Given the description of an element on the screen output the (x, y) to click on. 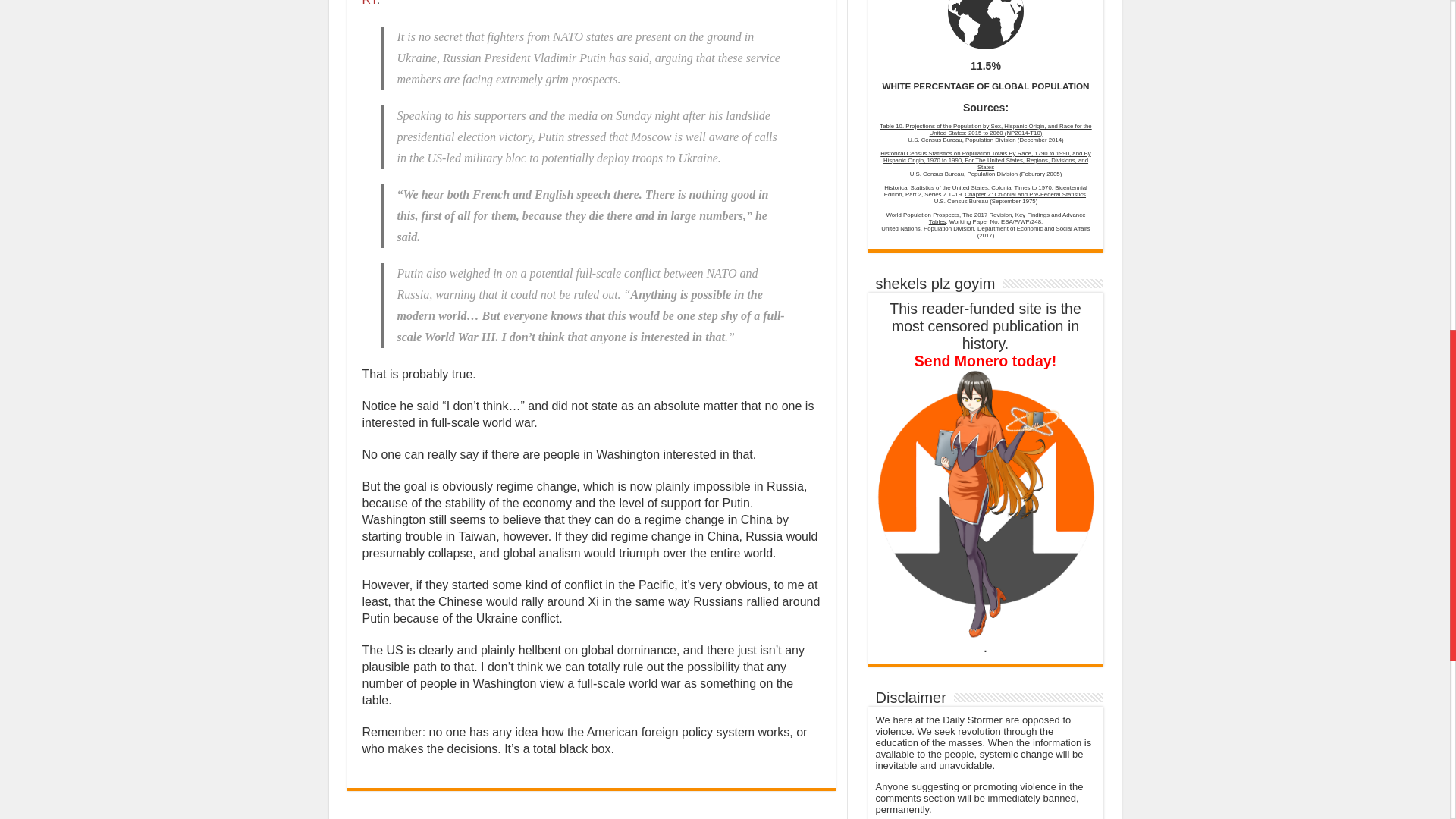
RT (369, 2)
Send Monero today! (984, 431)
